Given the description of an element on the screen output the (x, y) to click on. 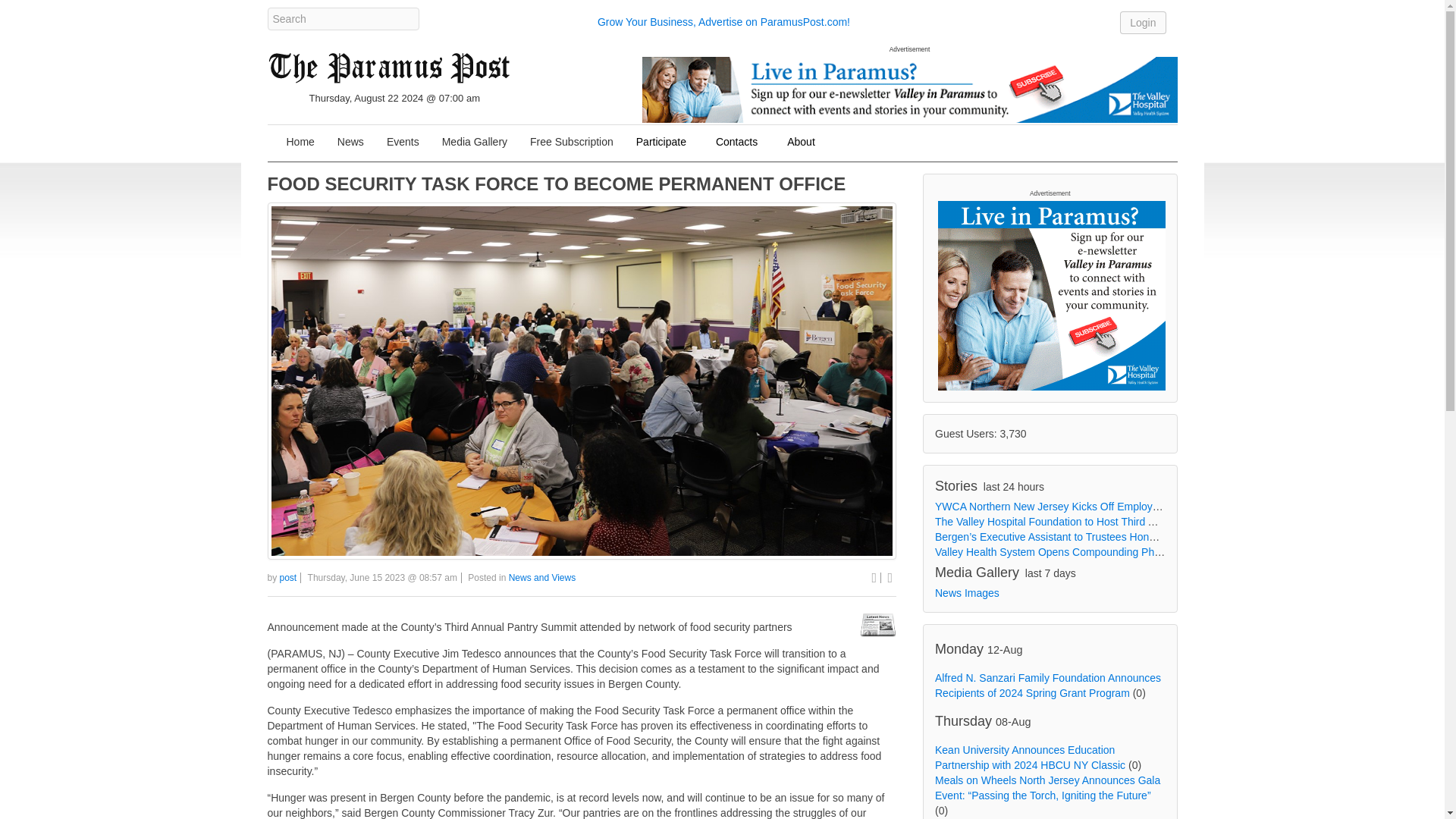
Media Gallery (474, 142)
Home (299, 142)
Events (402, 142)
FOOD SECURITY TASK FORCE TO BECOME PERMANENT OFFICE (555, 183)
News Images (966, 592)
post (288, 577)
Valley Image D (909, 89)
Grow Your Business, Advertise on ParamusPost.com! (723, 21)
News and Views (542, 577)
